Given the description of an element on the screen output the (x, y) to click on. 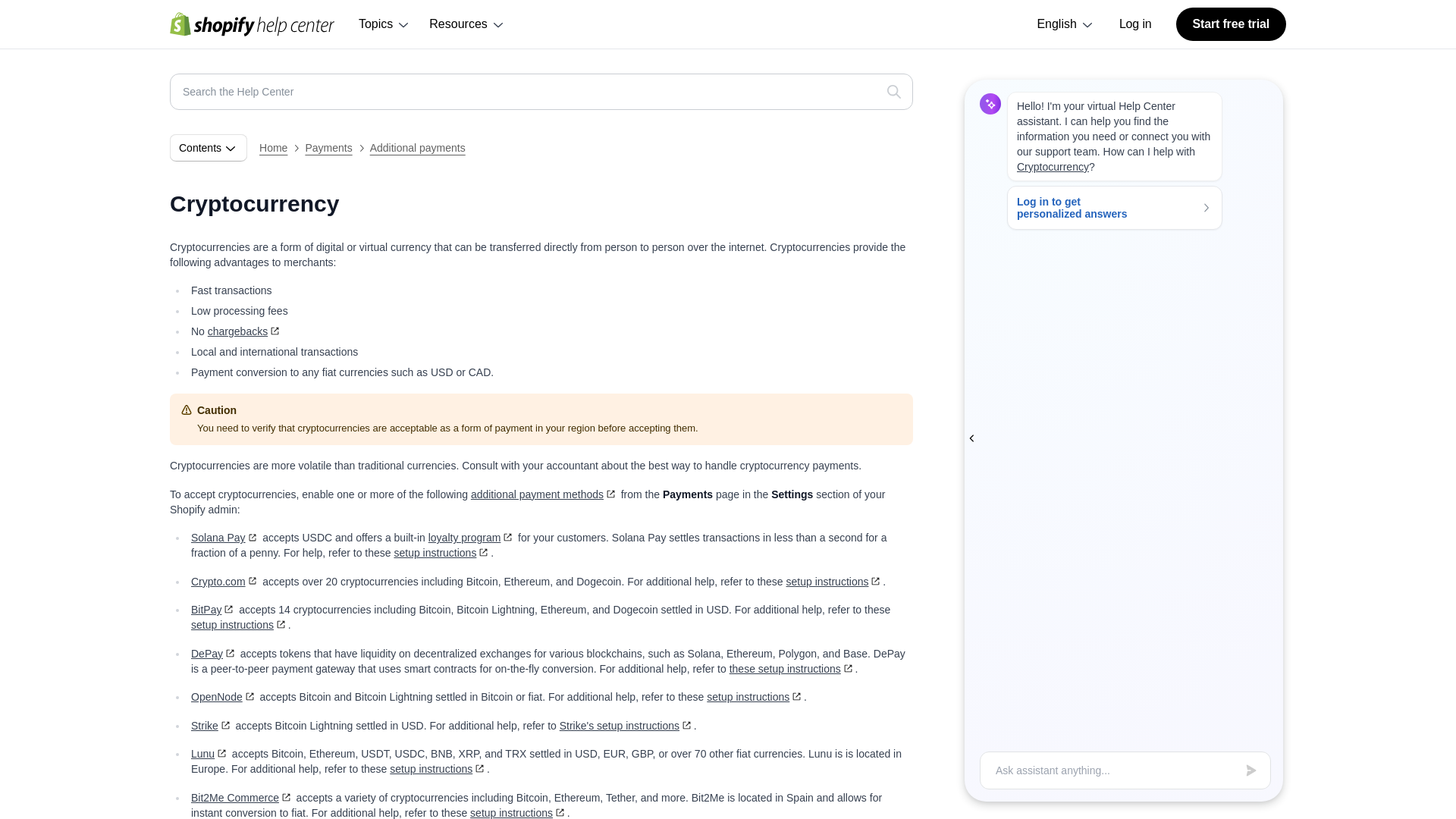
Topics (384, 24)
Resources (467, 24)
setup instructions (518, 812)
BitPay (212, 609)
setup instructions (438, 768)
loyalty program (471, 537)
Lunu (209, 753)
OpenNode (223, 696)
English (1065, 24)
setup instructions (441, 552)
Log in (1135, 23)
Bit2Me Commerce (242, 797)
Additional payments (417, 147)
Strike's setup instructions (626, 725)
Strike (211, 725)
